Given the description of an element on the screen output the (x, y) to click on. 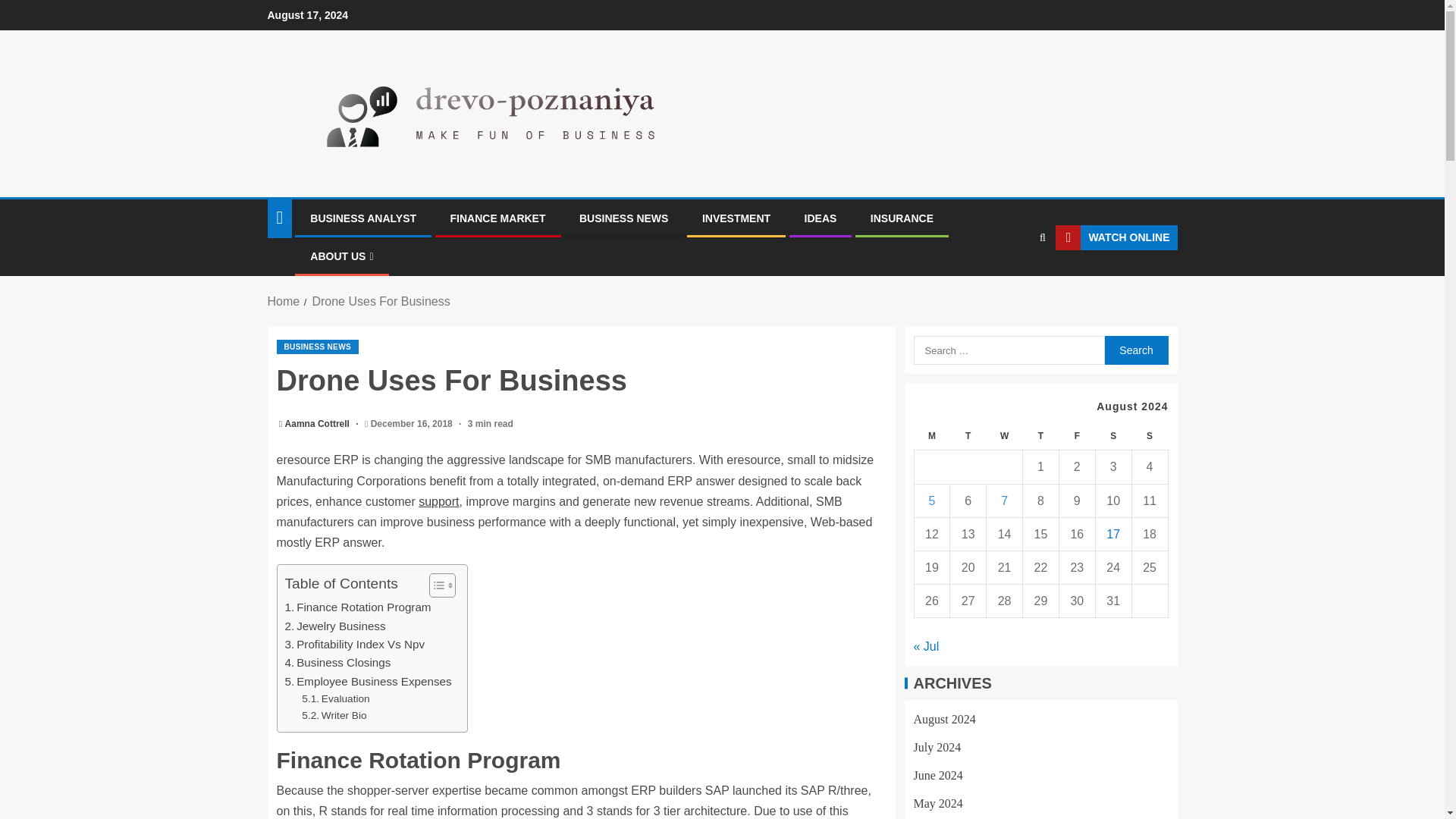
Home (282, 300)
Finance Rotation Program (357, 607)
Business Closings (338, 662)
Search (1135, 349)
Profitability Index Vs Npv (355, 644)
ABOUT US (341, 256)
Employee Business Expenses (368, 681)
Profitability Index Vs Npv (355, 644)
BUSINESS NEWS (317, 346)
Jewelry Business (335, 626)
